Given the description of an element on the screen output the (x, y) to click on. 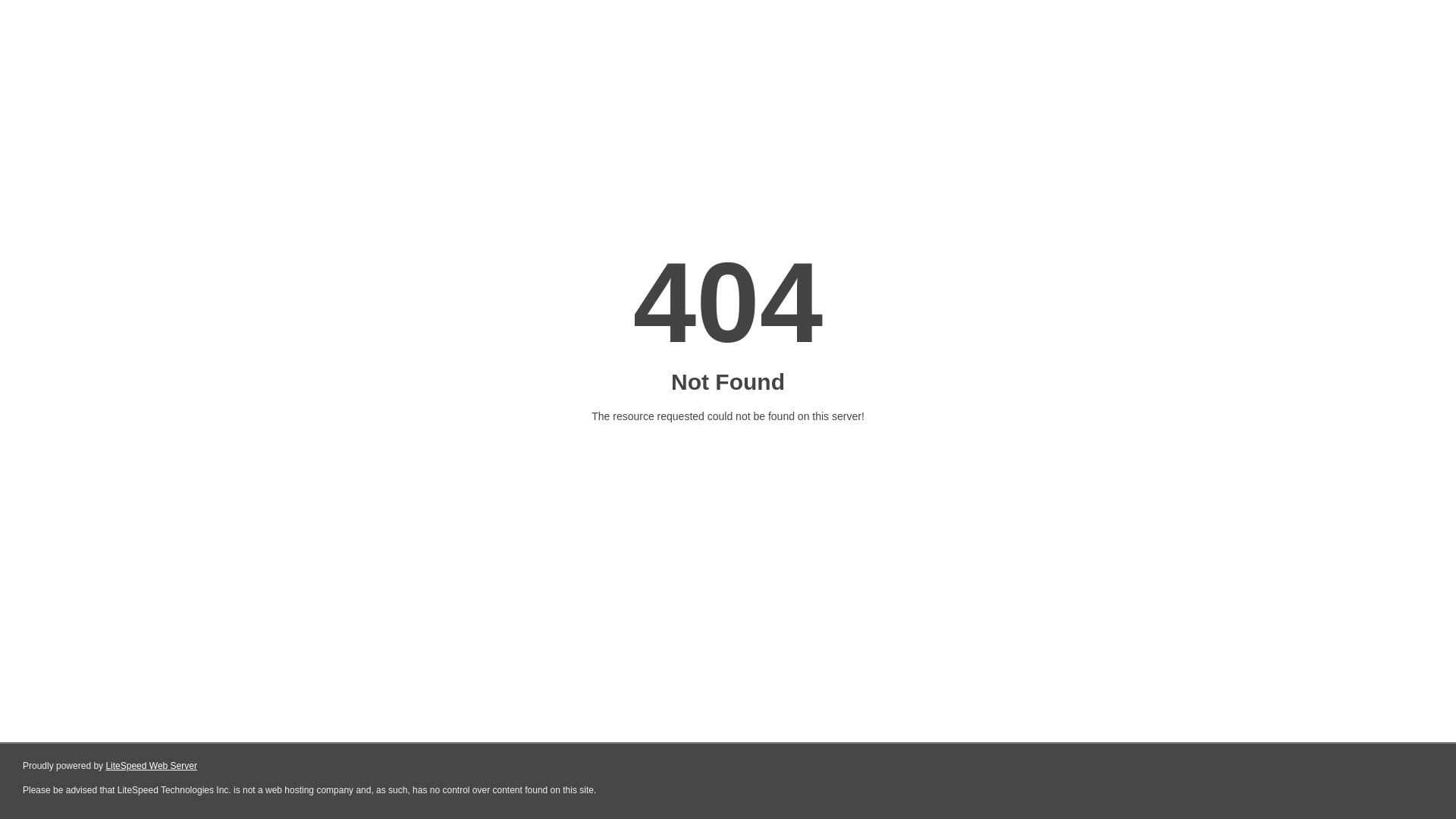
LiteSpeed Web Server Element type: text (151, 765)
